Given the description of an element on the screen output the (x, y) to click on. 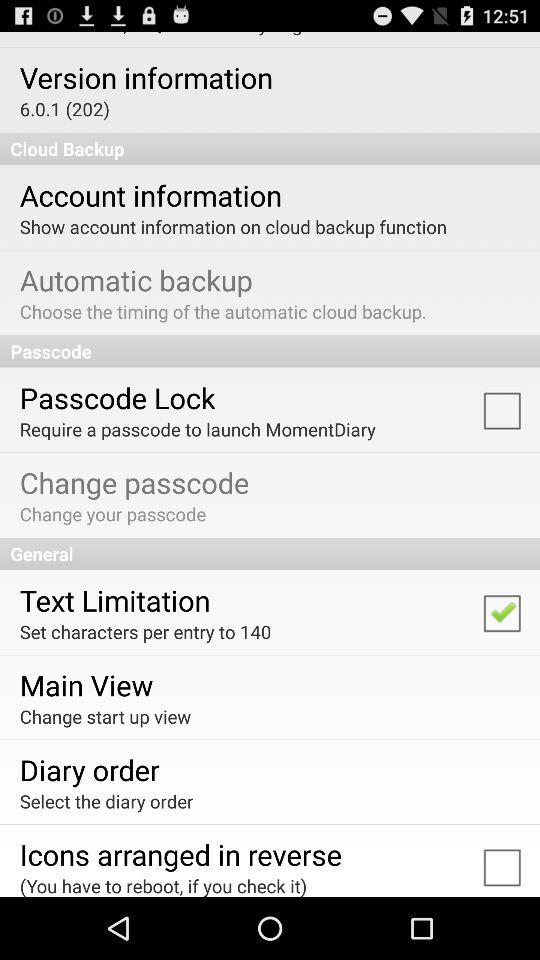
open app above the 6 0 1 item (146, 77)
